Given the description of an element on the screen output the (x, y) to click on. 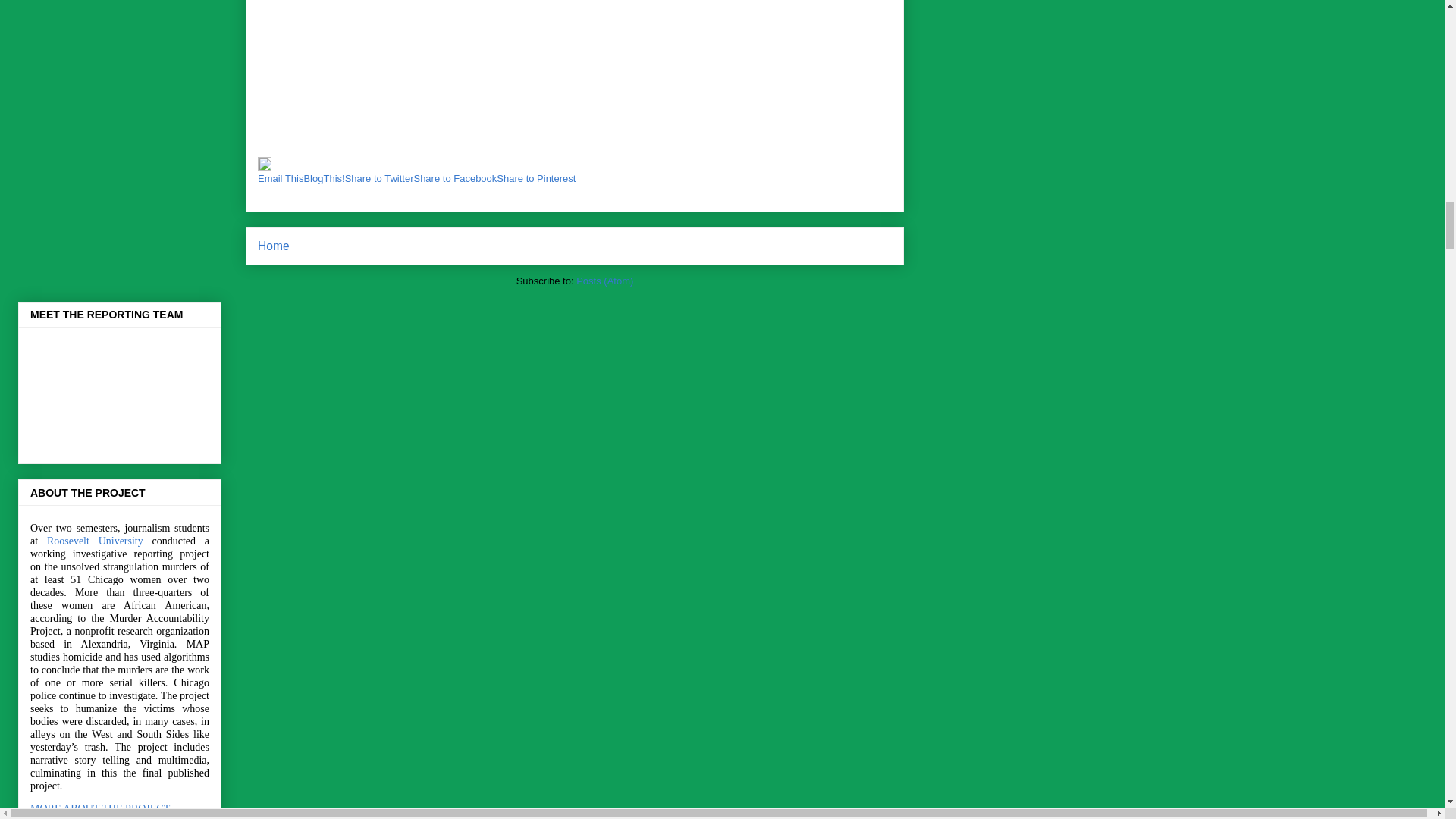
MORE ABOUT THE PROJECT (100, 808)
Share to Facebook (454, 178)
Share to Twitter (379, 178)
Share to Facebook (454, 178)
Share to Pinterest (535, 178)
BlogThis! (322, 178)
Share to Twitter (379, 178)
Home (273, 245)
Share to Pinterest (535, 178)
Roosevelt University (94, 541)
